Given the description of an element on the screen output the (x, y) to click on. 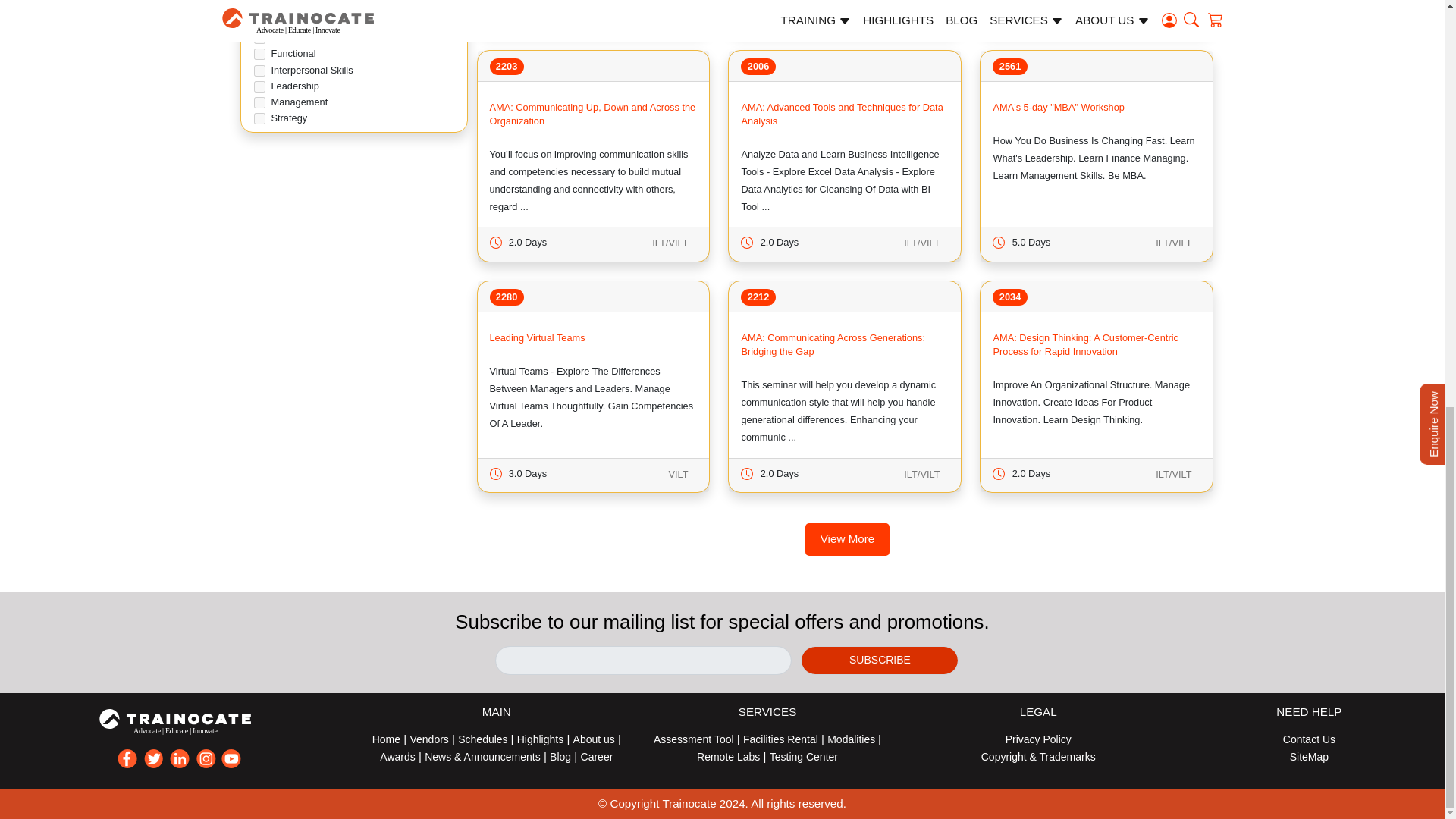
footer-logo (180, 721)
View More (847, 539)
174 (258, 102)
71 (258, 7)
200 (258, 70)
188 (258, 38)
87 (258, 118)
